Given the description of an element on the screen output the (x, y) to click on. 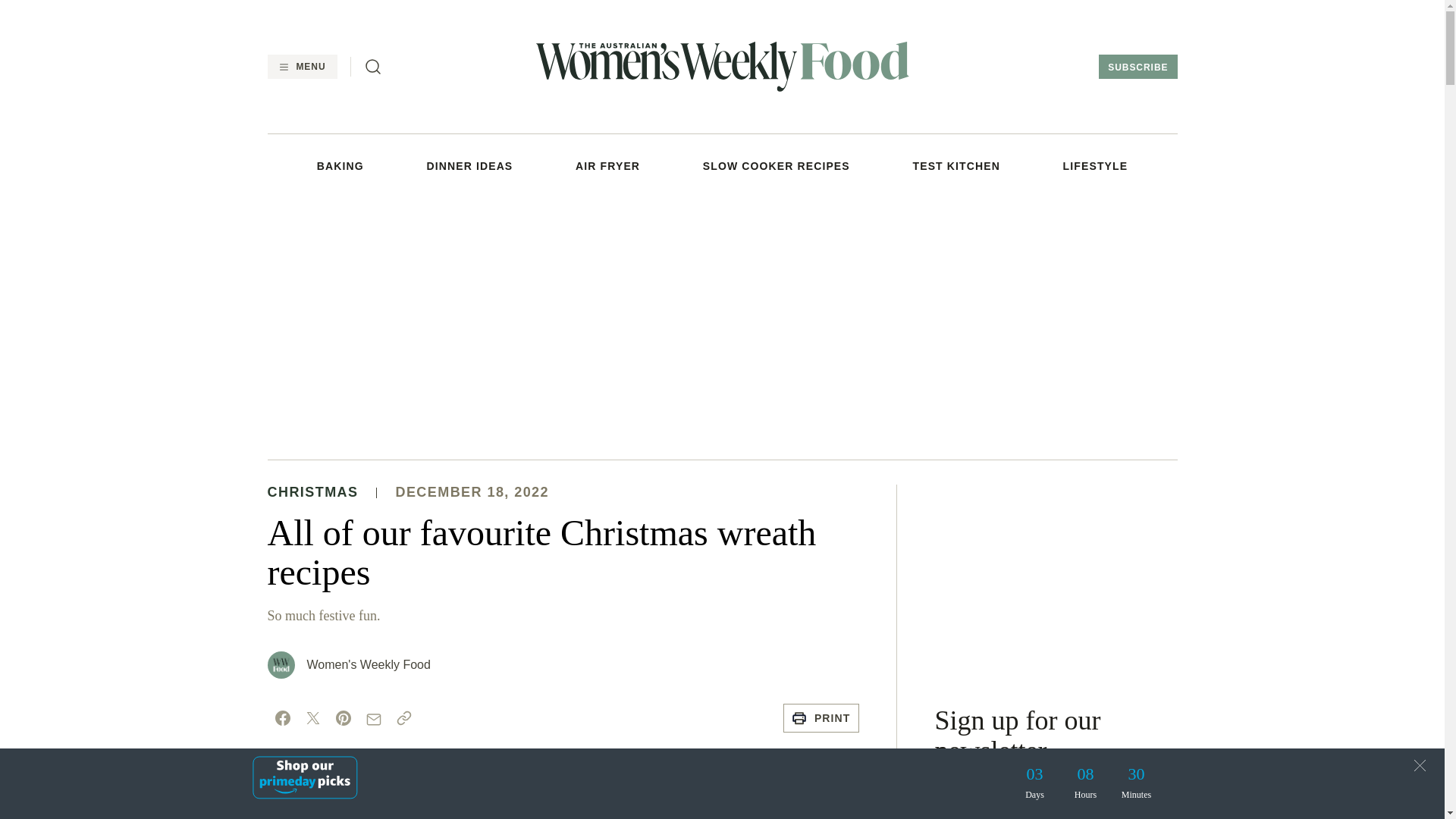
TEST KITCHEN (956, 165)
AIR FRYER (607, 165)
SUBSCRIBE (1137, 66)
MENU (301, 66)
3rd party ad content (721, 325)
3rd party ad content (1055, 579)
SLOW COOKER RECIPES (776, 165)
LIFESTYLE (1095, 165)
DINNER IDEAS (469, 165)
BAKING (340, 165)
